Given the description of an element on the screen output the (x, y) to click on. 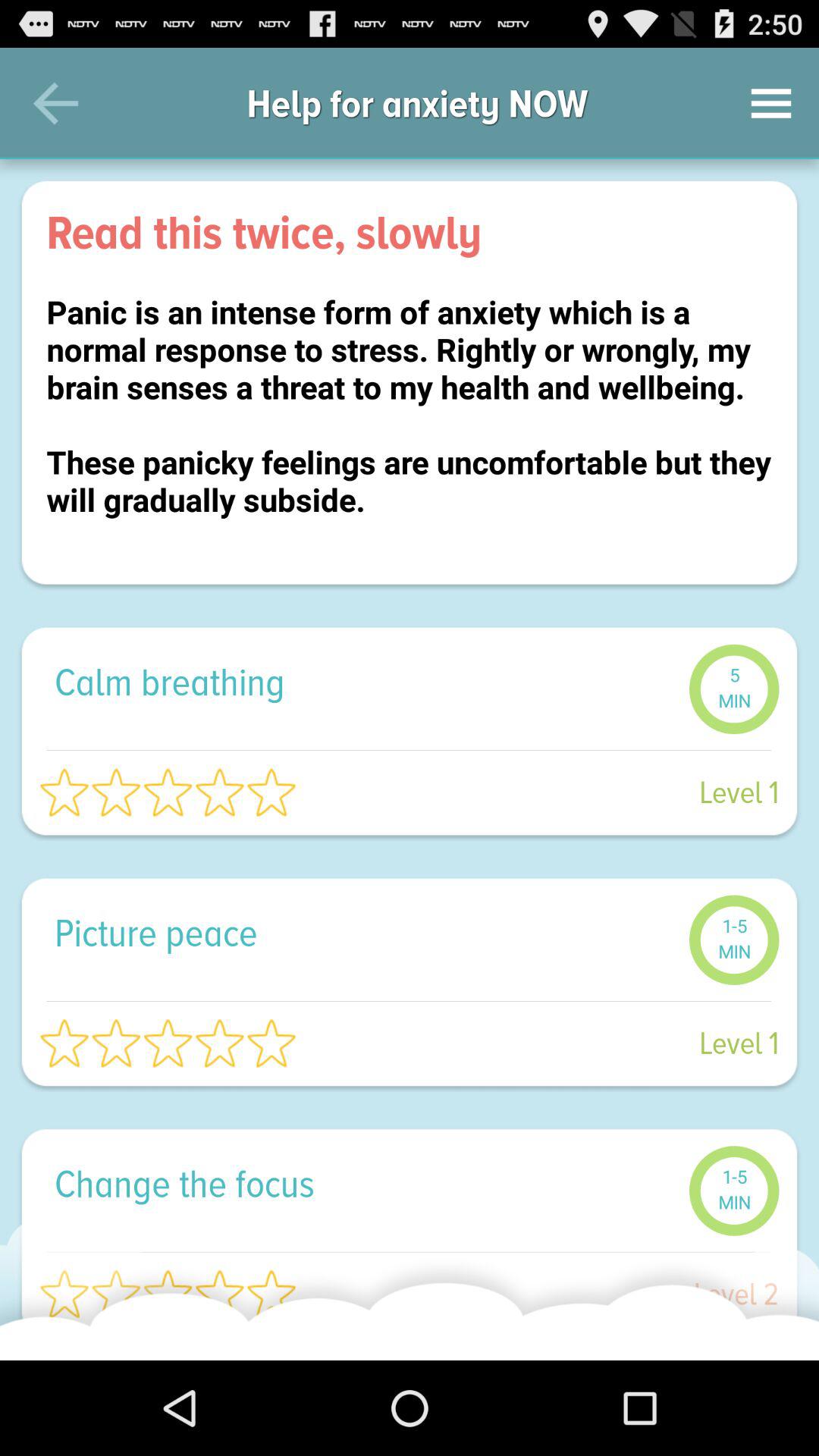
press the item to the left of help for anxiety (55, 103)
